Given the description of an element on the screen output the (x, y) to click on. 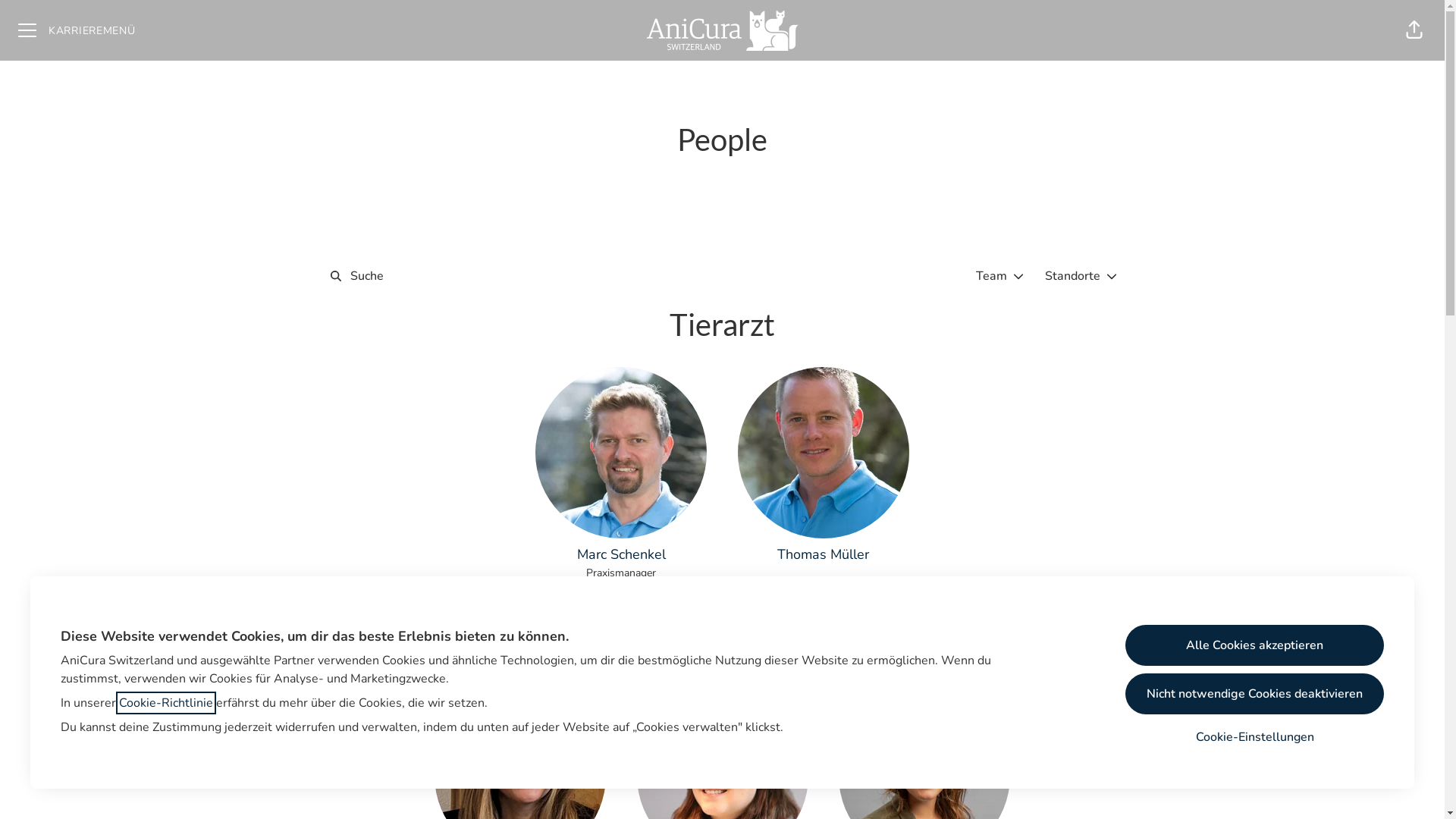
Marc Schenkel
Praxismanager Element type: text (620, 473)
Team Element type: text (1000, 275)
Standorte Element type: text (1082, 275)
Alle Cookies akzeptieren Element type: text (1254, 644)
Cookie-Einstellungen Element type: text (1254, 736)
Cookie-Richtlinie Element type: text (166, 702)
Seite teilen Element type: hover (1414, 30)
Nicht notwendige Cookies deaktivieren Element type: text (1254, 693)
